Given the description of an element on the screen output the (x, y) to click on. 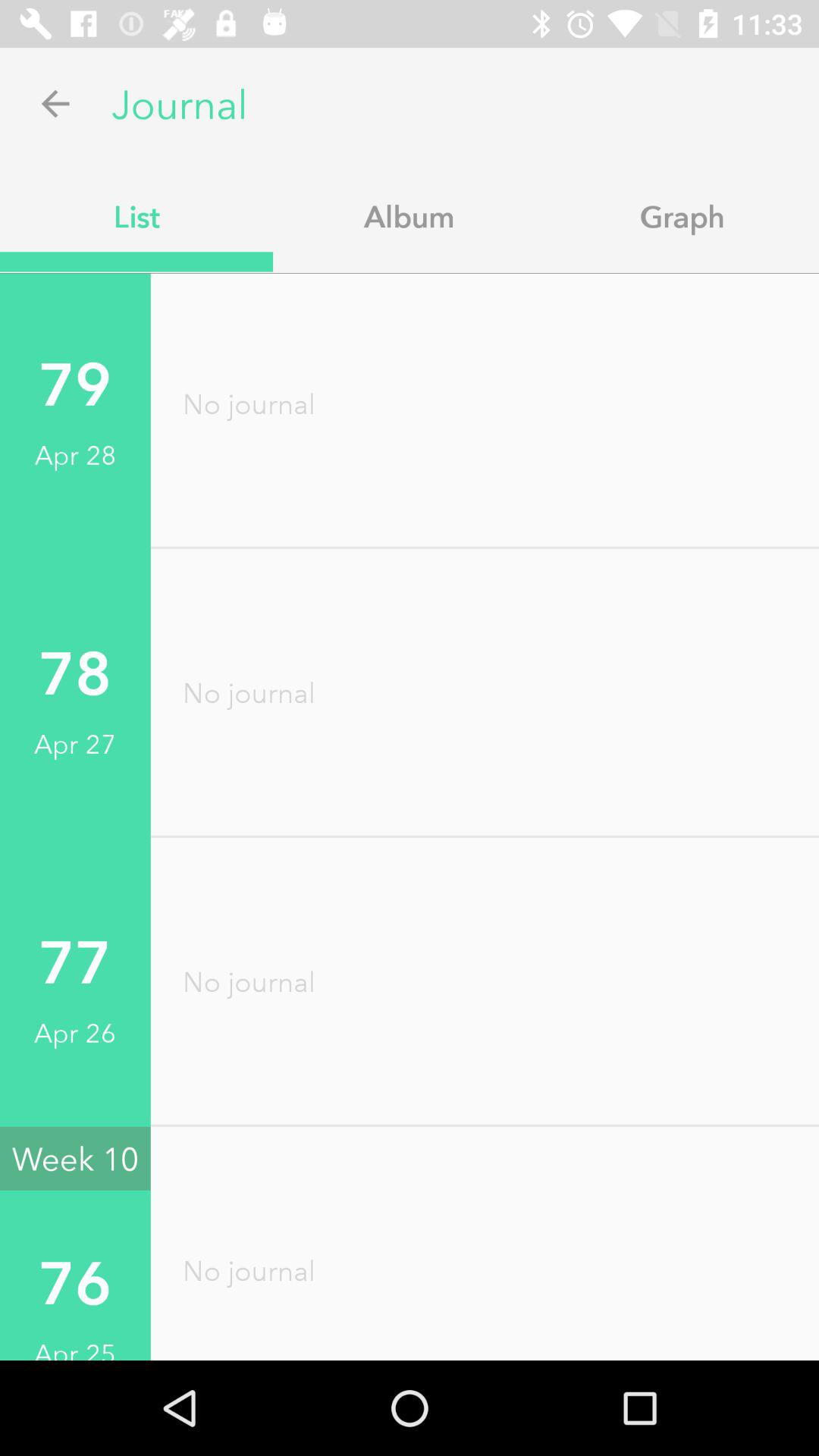
go back (55, 103)
